Given the description of an element on the screen output the (x, y) to click on. 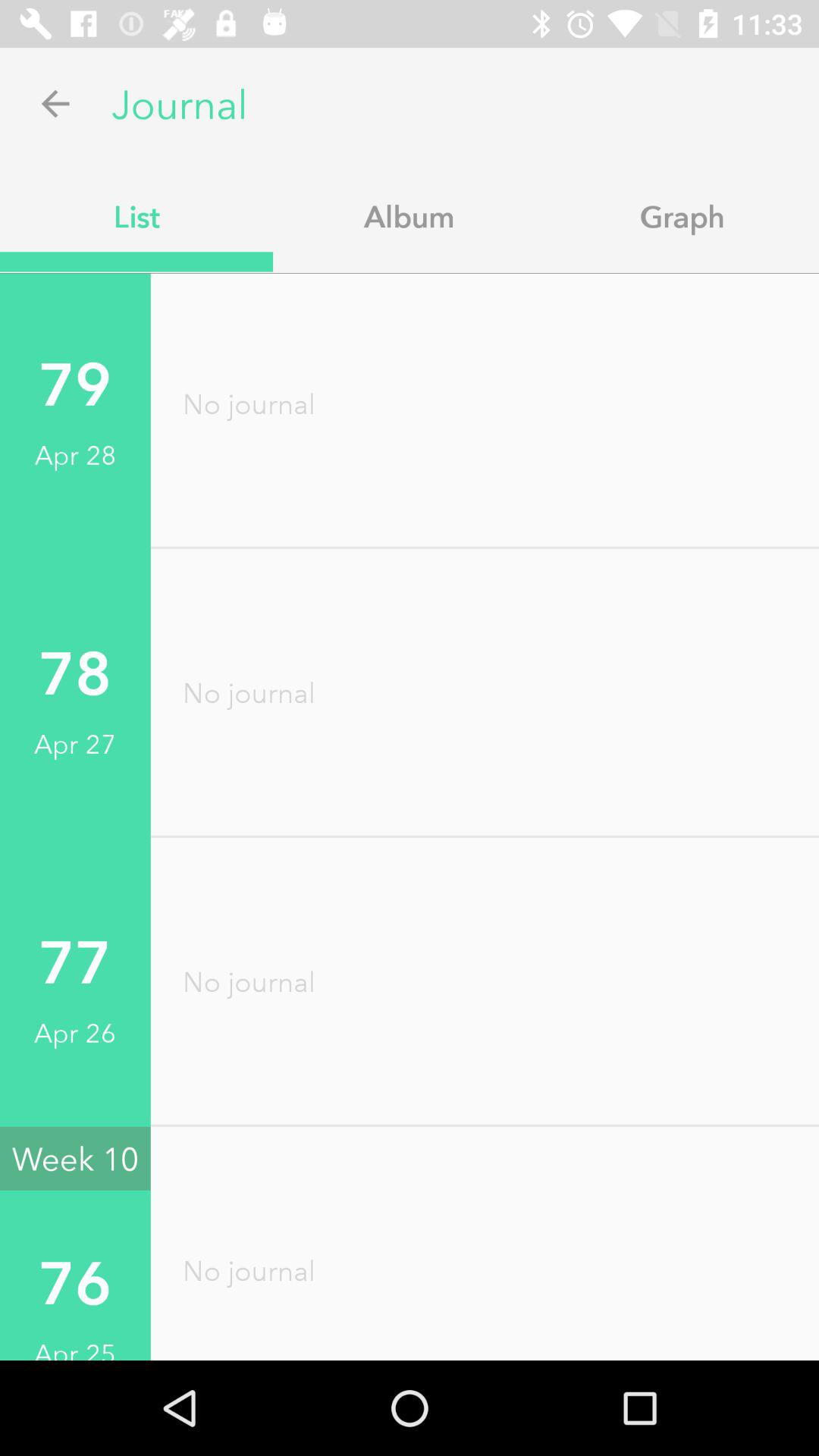
go back (55, 103)
